Given the description of an element on the screen output the (x, y) to click on. 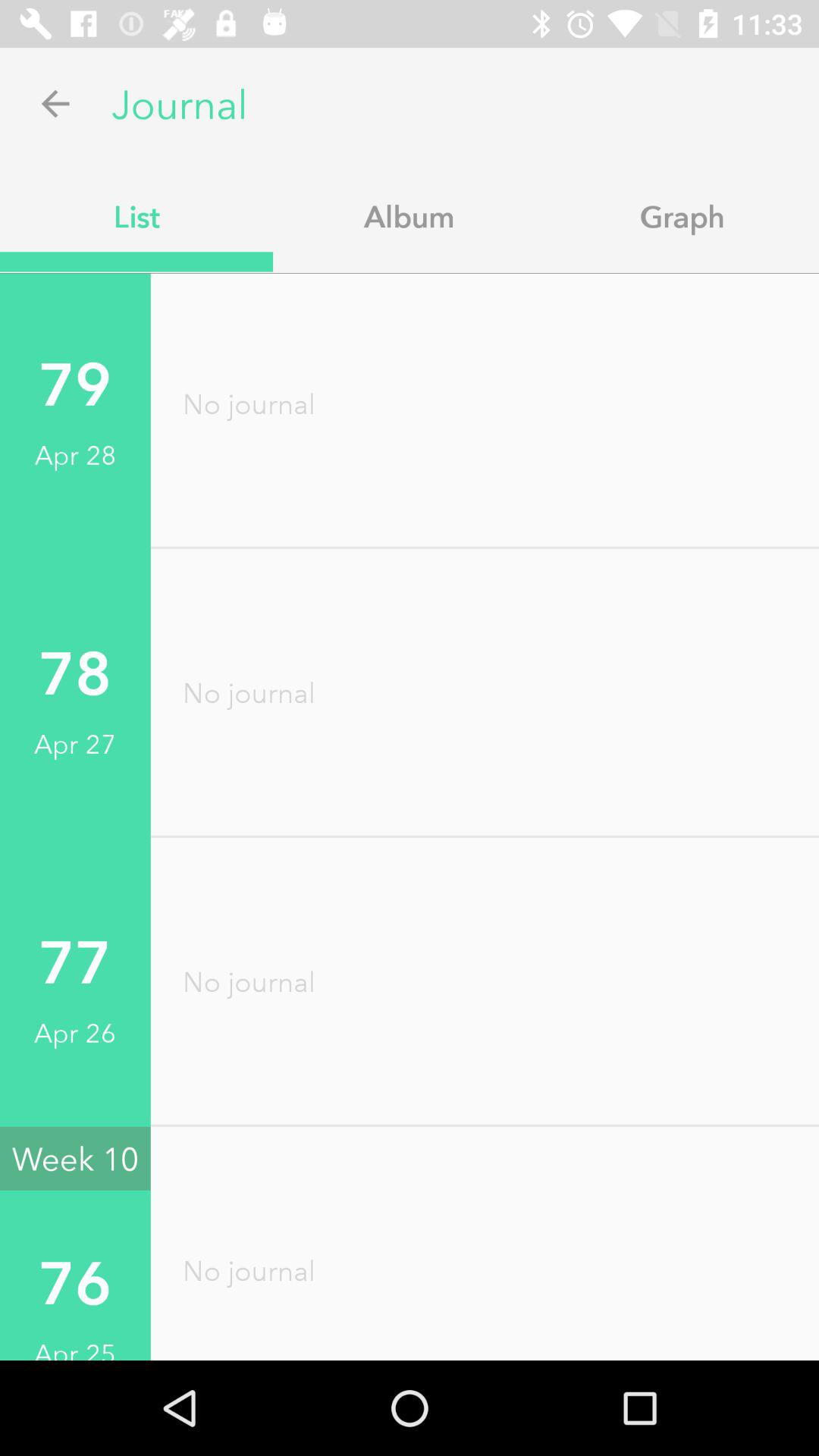
go back (55, 103)
